Given the description of an element on the screen output the (x, y) to click on. 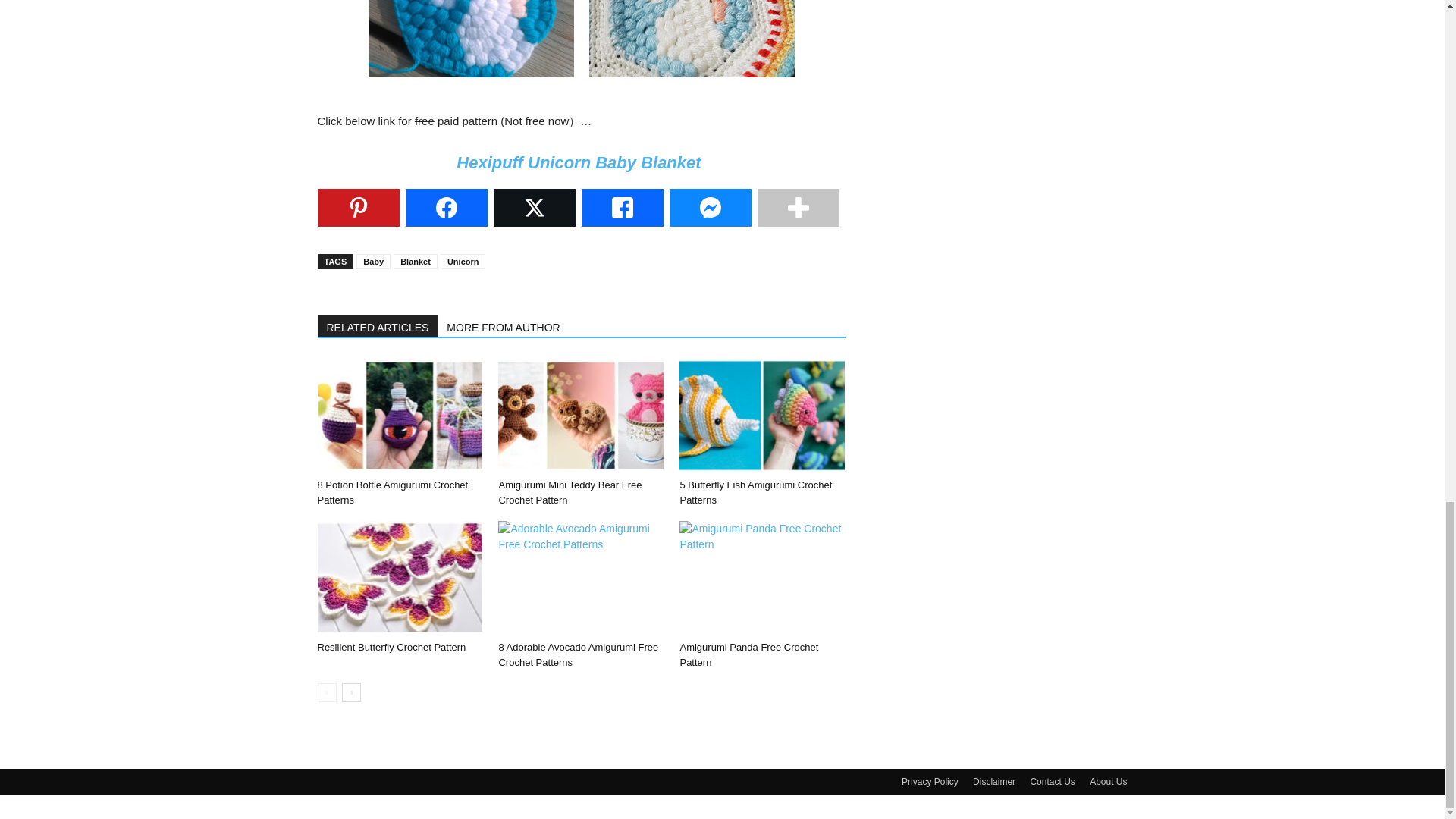
Share on More Button (797, 207)
Share on Like (621, 207)
Share on Twitter (534, 207)
Share on Facebook (445, 207)
bottomFacebookLike (430, 302)
Share on Pinterest (357, 207)
Share on Facebook Messenger (709, 207)
